Given the description of an element on the screen output the (x, y) to click on. 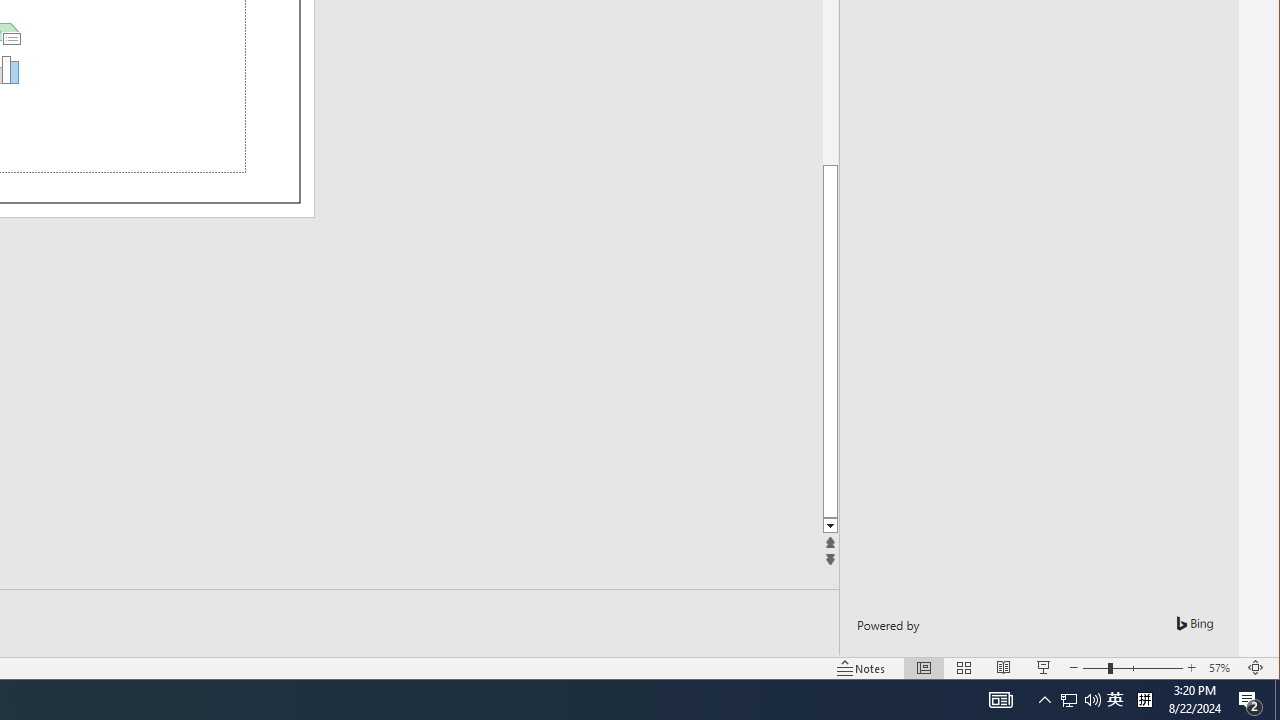
Zoom 57% (1222, 668)
